Given the description of an element on the screen output the (x, y) to click on. 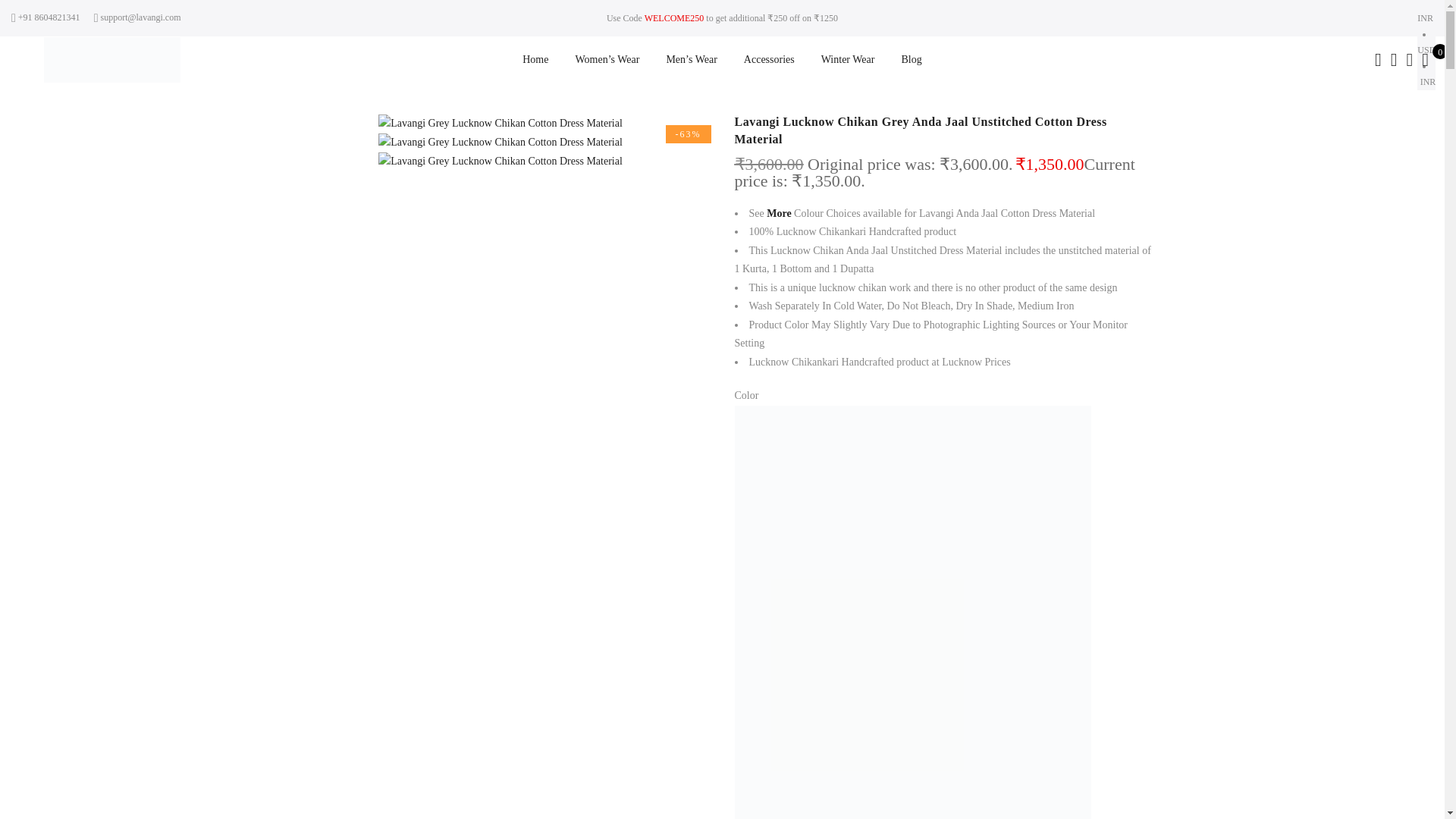
Search (1378, 60)
View your Wishlist (1408, 60)
Blog (911, 59)
Winter Wear (848, 59)
Home (535, 59)
USD (1425, 50)
View your shopping cart (1425, 60)
INR (1425, 82)
0 (1425, 60)
Accessories (769, 59)
